Given the description of an element on the screen output the (x, y) to click on. 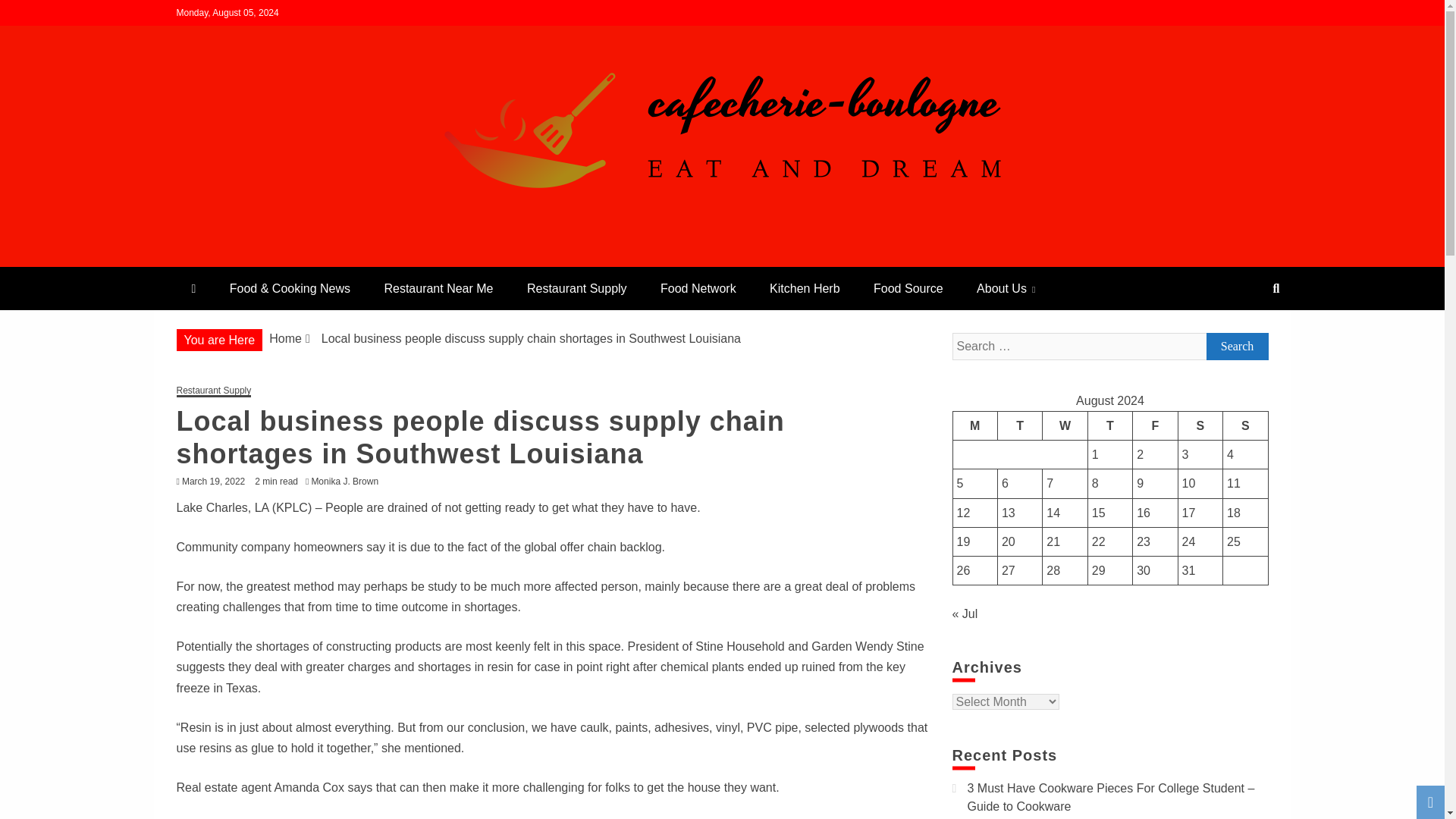
Cafecherie Boulogne (319, 260)
About Us (1004, 288)
Home (285, 338)
Restaurant Near Me (438, 288)
Monika J. Brown (348, 480)
Search (1236, 346)
Search (31, 13)
Search (1236, 346)
March 19, 2022 (213, 480)
Thursday (1109, 425)
